Given the description of an element on the screen output the (x, y) to click on. 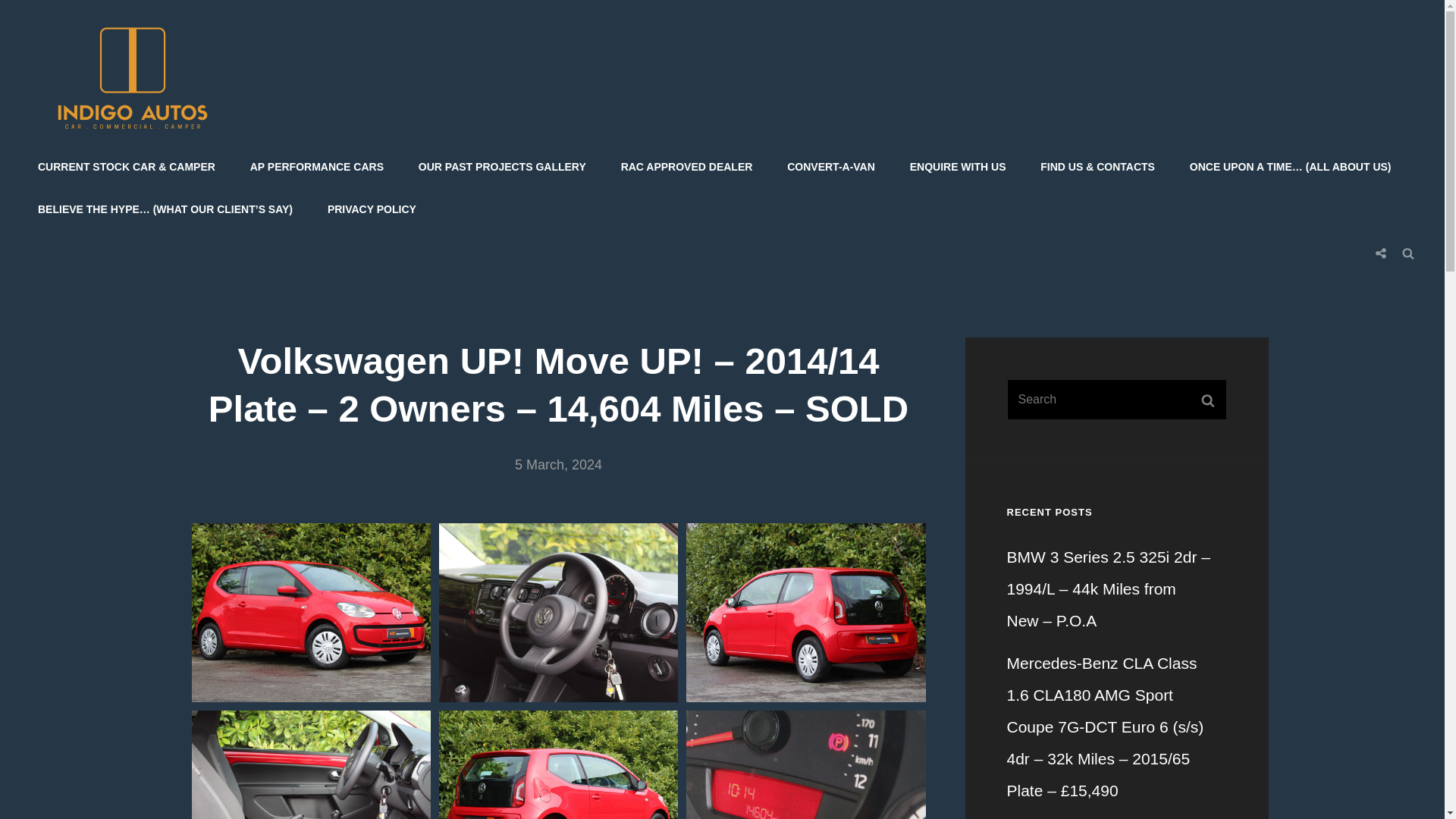
PRIVACY POLICY (371, 209)
CONVERT-A-VAN (830, 166)
Social Share (1380, 252)
ENQUIRE WITH US (958, 166)
5 March, 2024 (558, 464)
OUR PAST PROJECTS GALLERY (502, 166)
RAC APPROVED DEALER (686, 166)
Search (1408, 252)
Indigo Autos (284, 86)
AP PERFORMANCE CARS (316, 166)
